Given the description of an element on the screen output the (x, y) to click on. 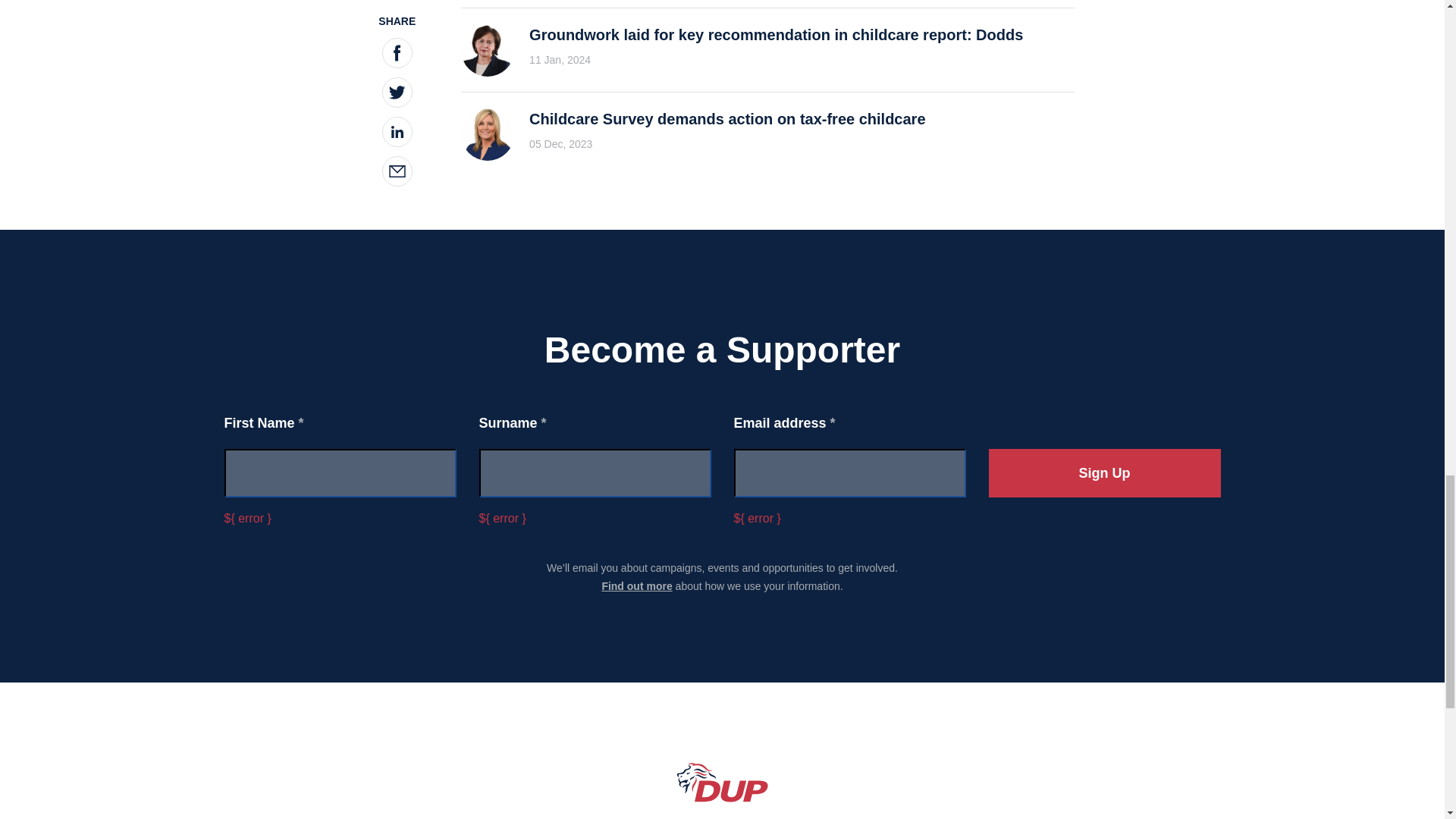
Find out more (636, 585)
Sign Up (1104, 472)
Branding (722, 782)
